Given the description of an element on the screen output the (x, y) to click on. 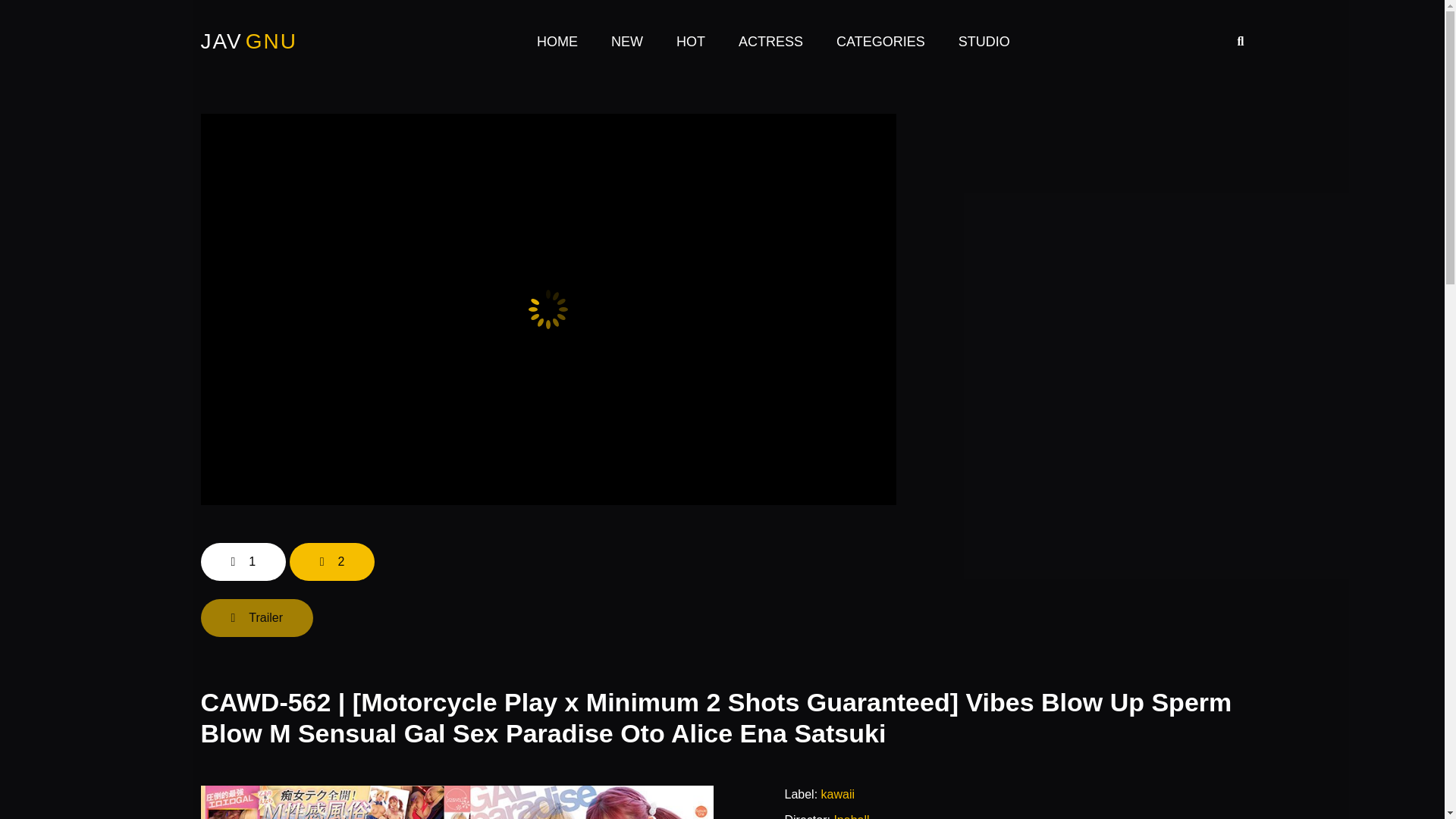
Inaball (850, 816)
Trailer (256, 617)
kawaii (837, 793)
1 (242, 561)
STUDIO (984, 42)
ACTRESS (770, 42)
2 (332, 561)
CATEGORIES (880, 42)
JAVGNU (248, 41)
